Given the description of an element on the screen output the (x, y) to click on. 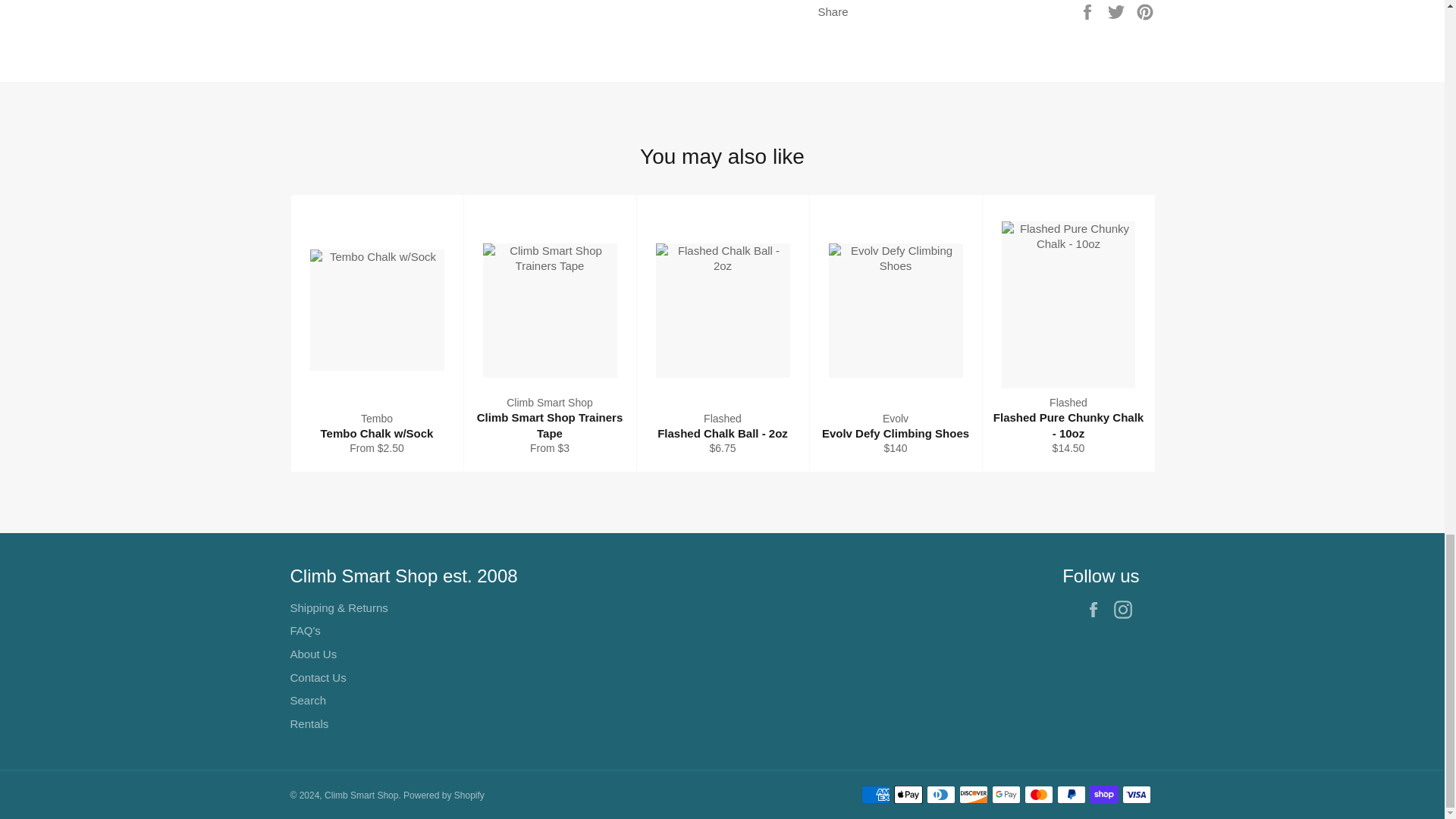
Pin on Pinterest (1144, 10)
Climb Smart Shop on Instagram (1125, 609)
Share on Facebook (1088, 10)
Tweet on Twitter (1117, 10)
Climb Smart Shop on Facebook (1096, 609)
